Given the description of an element on the screen output the (x, y) to click on. 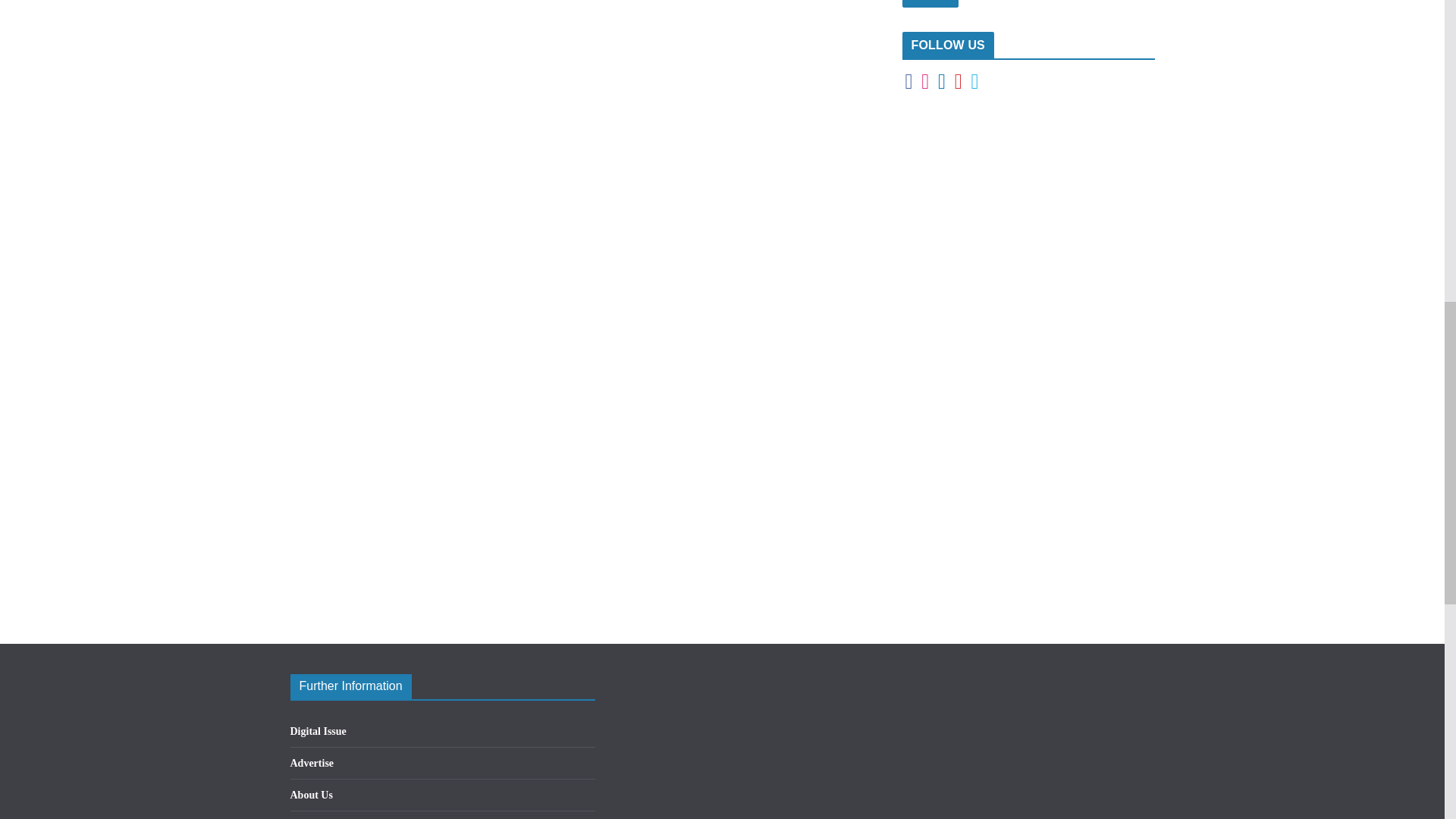
Sign up (930, 3)
Advertise (311, 763)
Sign up (930, 3)
About Us (310, 794)
Digital Issue (317, 731)
